Given the description of an element on the screen output the (x, y) to click on. 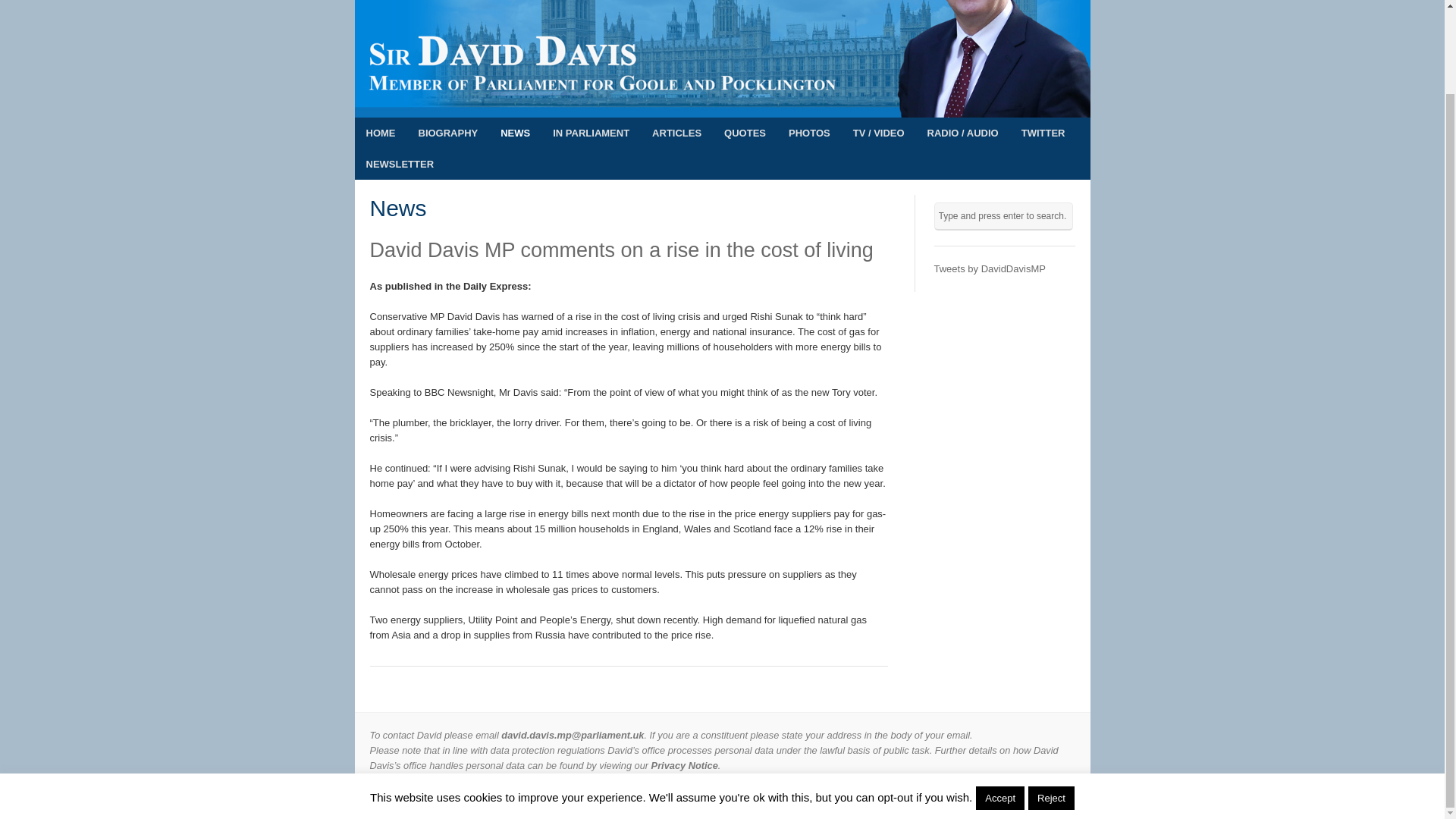
blue ice (1059, 795)
Reject (1050, 702)
HOME (381, 132)
BIOGRAPHY (447, 132)
Rt Hon David Davis MP (457, 795)
Tweets by DavidDavisMP (989, 268)
TWITTER (1043, 132)
Articles (676, 132)
Radio and Audio (962, 132)
News (397, 207)
Photos (809, 132)
Type and press enter to search. (1003, 216)
ARTICLES (676, 132)
stuart (1024, 795)
IN PARLIAMENT (590, 132)
